Given the description of an element on the screen output the (x, y) to click on. 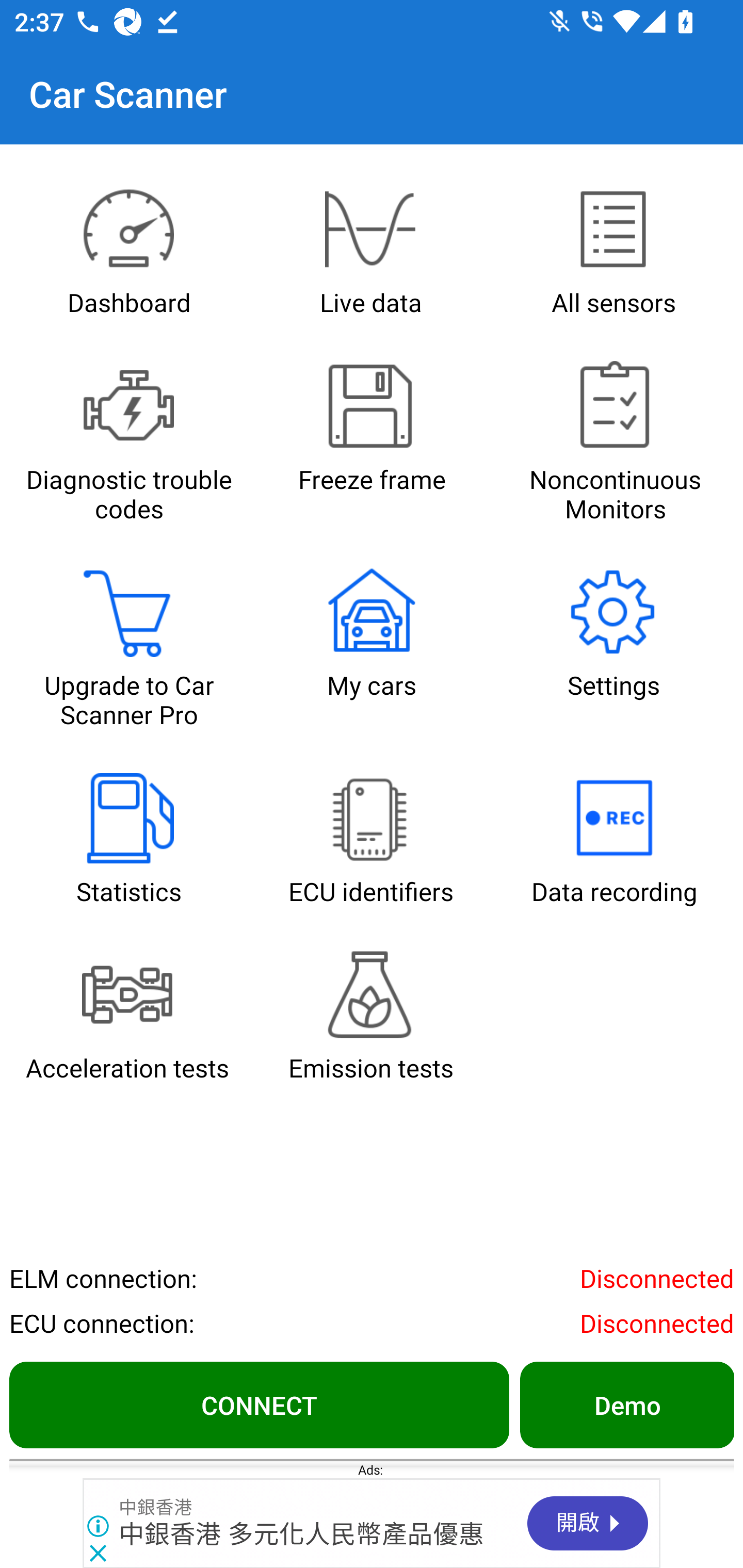
CONNECT (258, 1404)
Demo (627, 1404)
中銀香港 (155, 1507)
開啟 (587, 1522)
中銀香港 多元化人民幣產品優惠 (301, 1533)
